Given the description of an element on the screen output the (x, y) to click on. 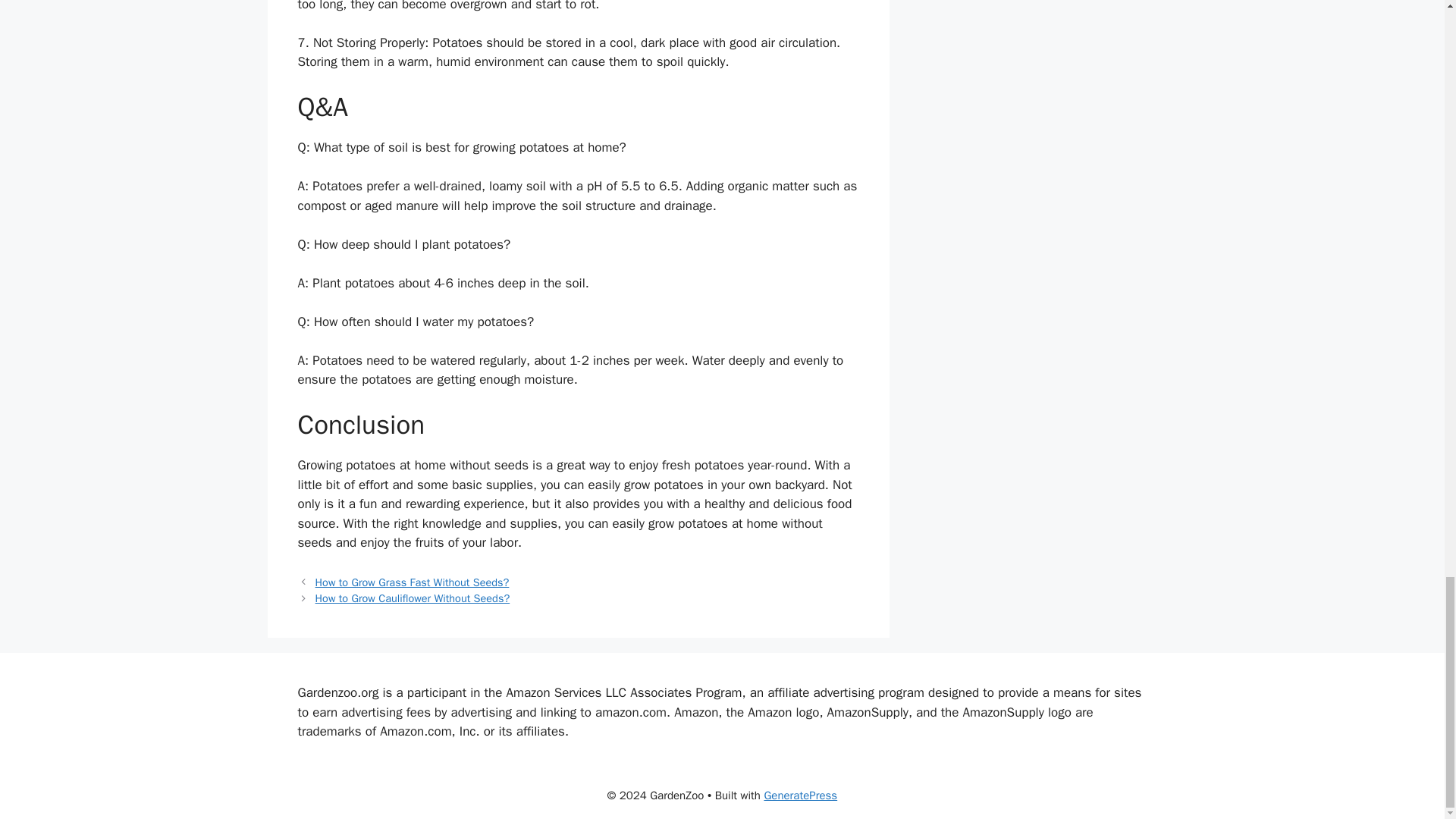
GeneratePress (799, 795)
How to Grow Cauliflower Without Seeds? (413, 598)
How to Grow Grass Fast Without Seeds? (412, 581)
